Given the description of an element on the screen output the (x, y) to click on. 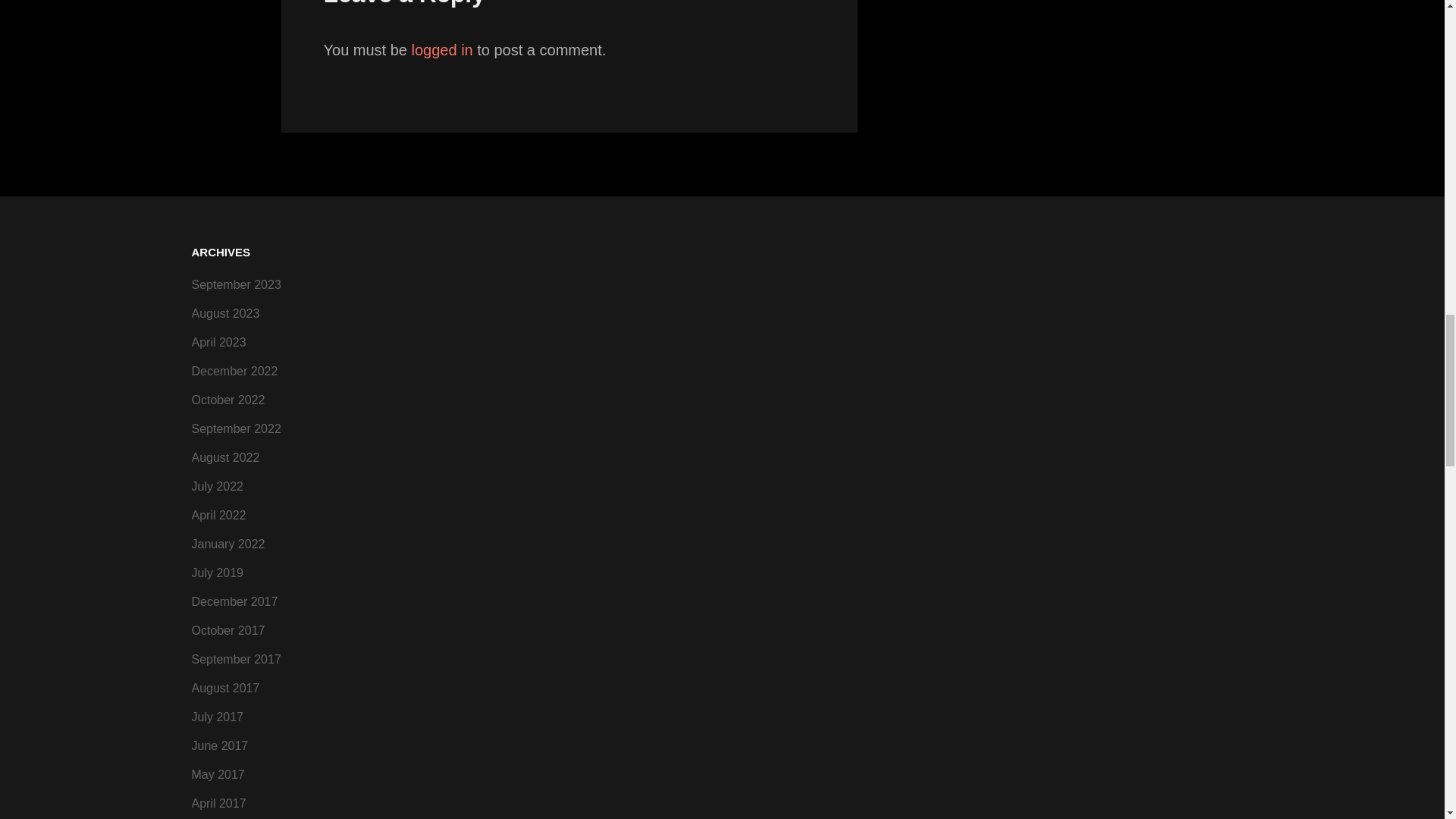
logged in (442, 49)
April 2023 (218, 342)
December 2022 (234, 371)
September 2022 (235, 429)
September 2023 (235, 285)
August 2023 (224, 313)
October 2022 (227, 400)
